Given the description of an element on the screen output the (x, y) to click on. 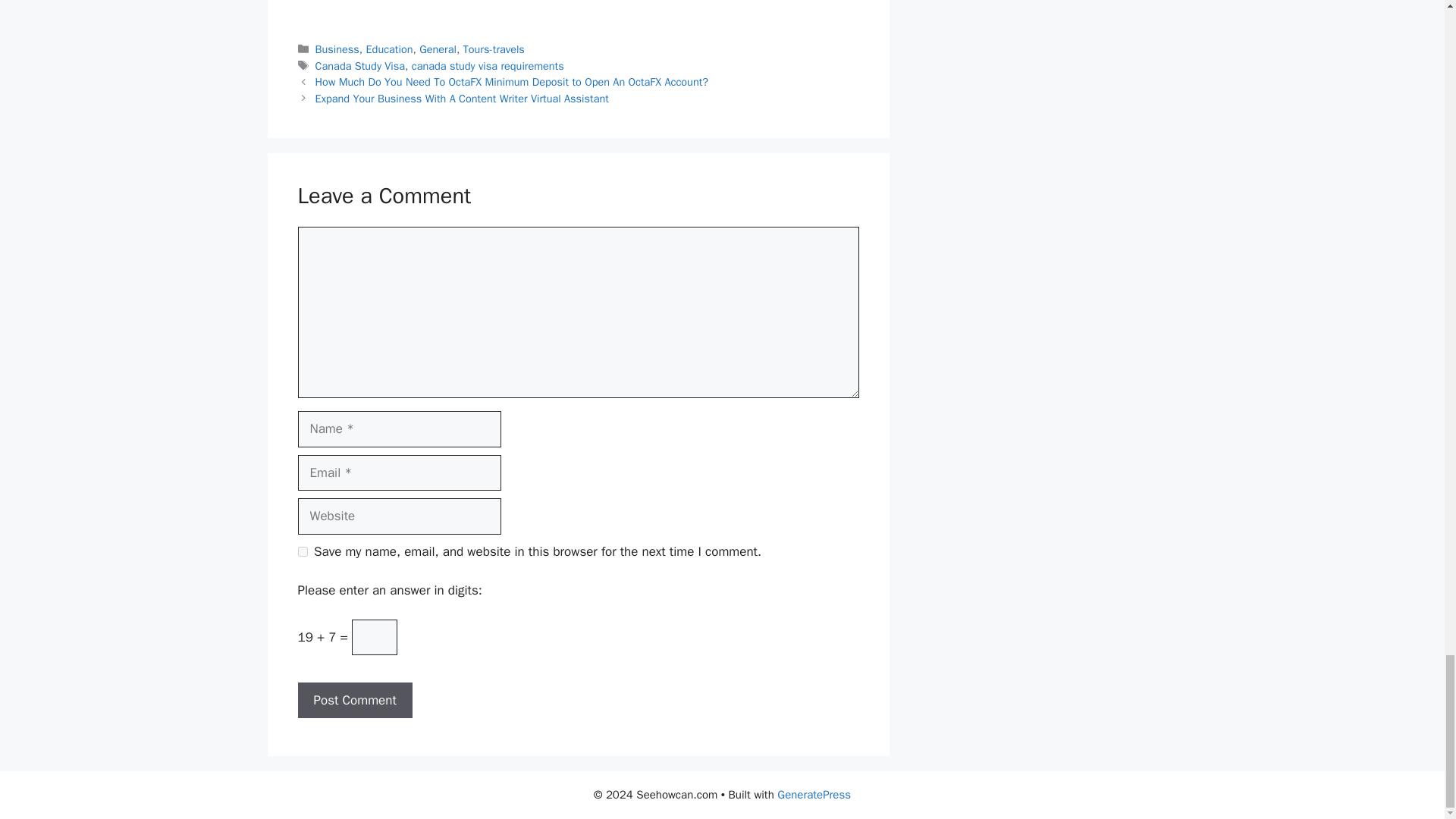
General (438, 49)
Canada Study Visa (360, 65)
Business (337, 49)
yes (302, 551)
Post Comment (354, 700)
Education (389, 49)
Tours-travels (493, 49)
